Given the description of an element on the screen output the (x, y) to click on. 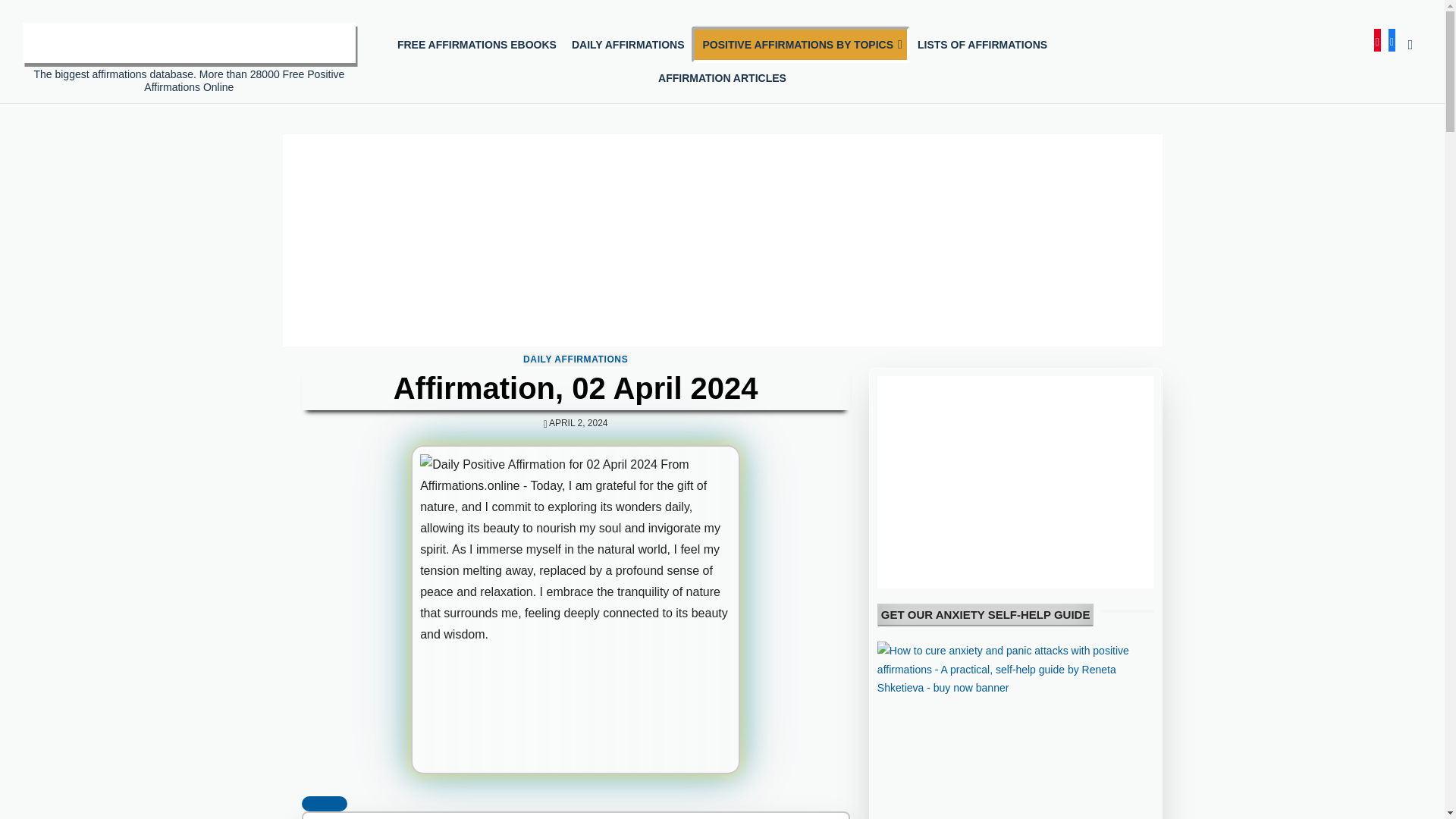
FREE AFFIRMATIONS EBOOKS (477, 44)
DAILY AFFIRMATIONS (574, 358)
POSITIVE AFFIRMATIONS BY TOPICS (800, 44)
LISTS OF AFFIRMATIONS (982, 44)
DAILY AFFIRMATIONS (628, 44)
AFFIRMATION ARTICLES (721, 78)
